Given the description of an element on the screen output the (x, y) to click on. 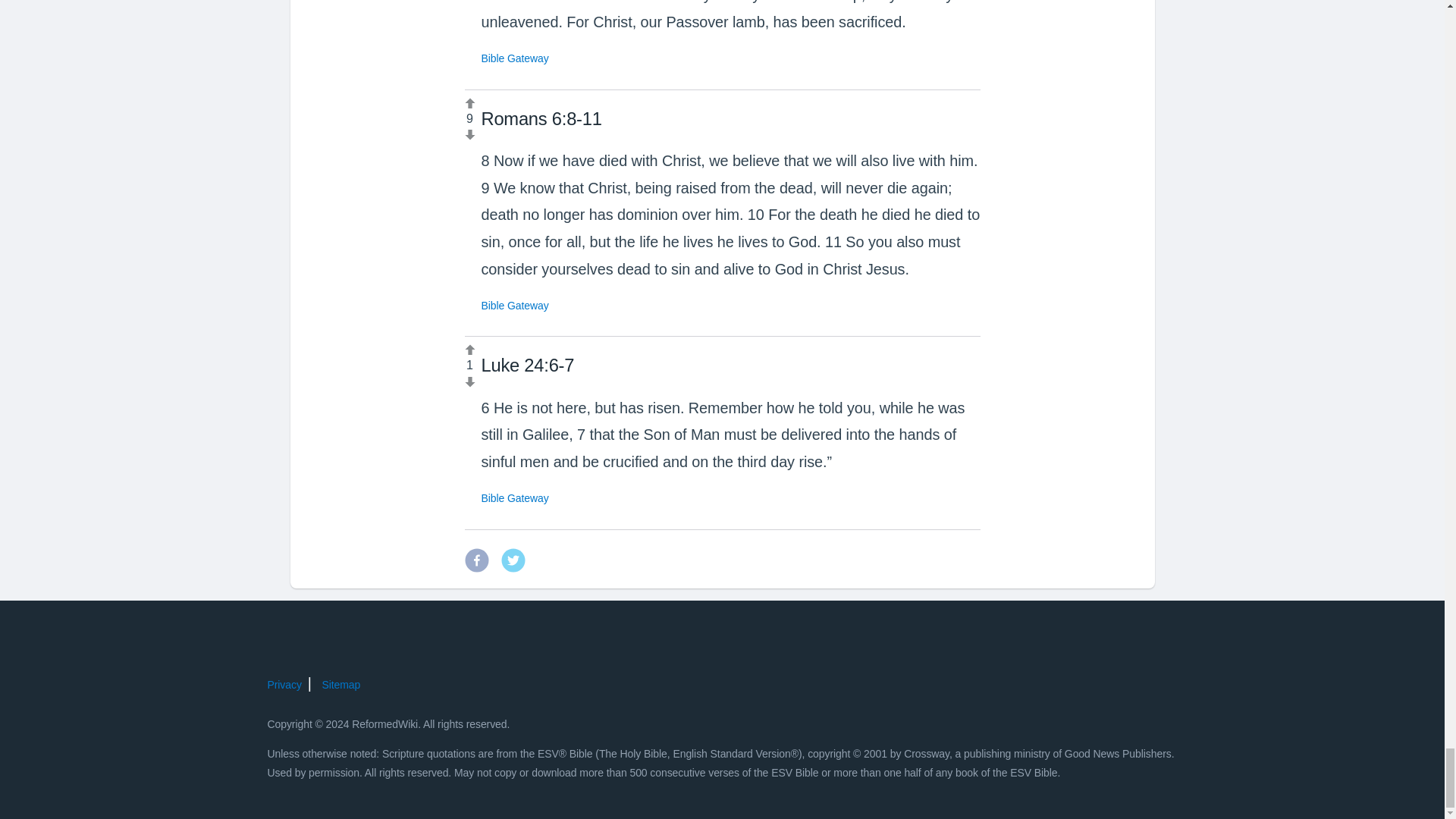
Bible Gateway (514, 58)
Bible Gateway (514, 305)
Bible Gateway (514, 498)
